Given the description of an element on the screen output the (x, y) to click on. 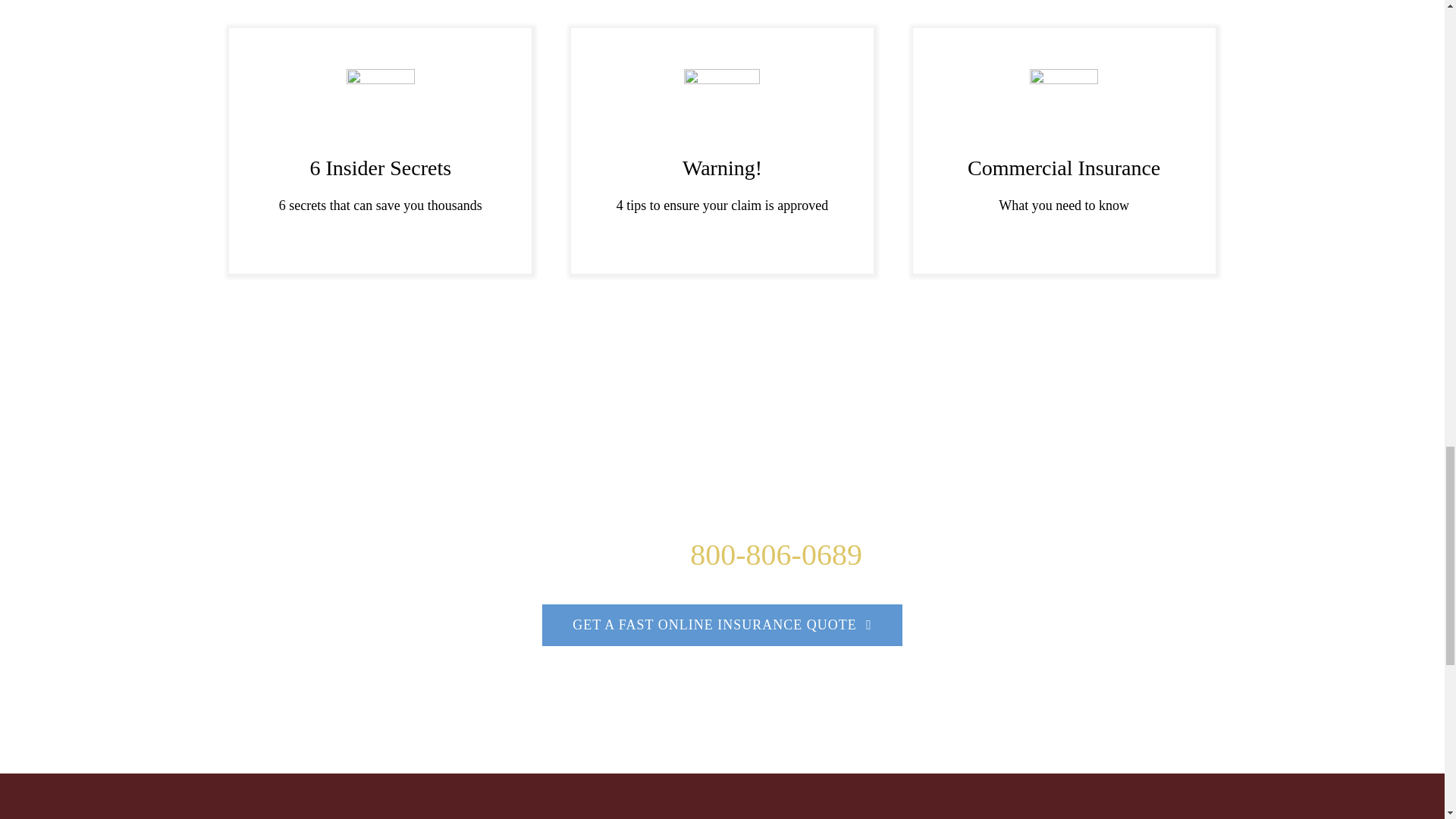
icon-insider-secrets (380, 102)
icon-commercial-insurance (1063, 102)
icon-warning (722, 102)
